Given the description of an element on the screen output the (x, y) to click on. 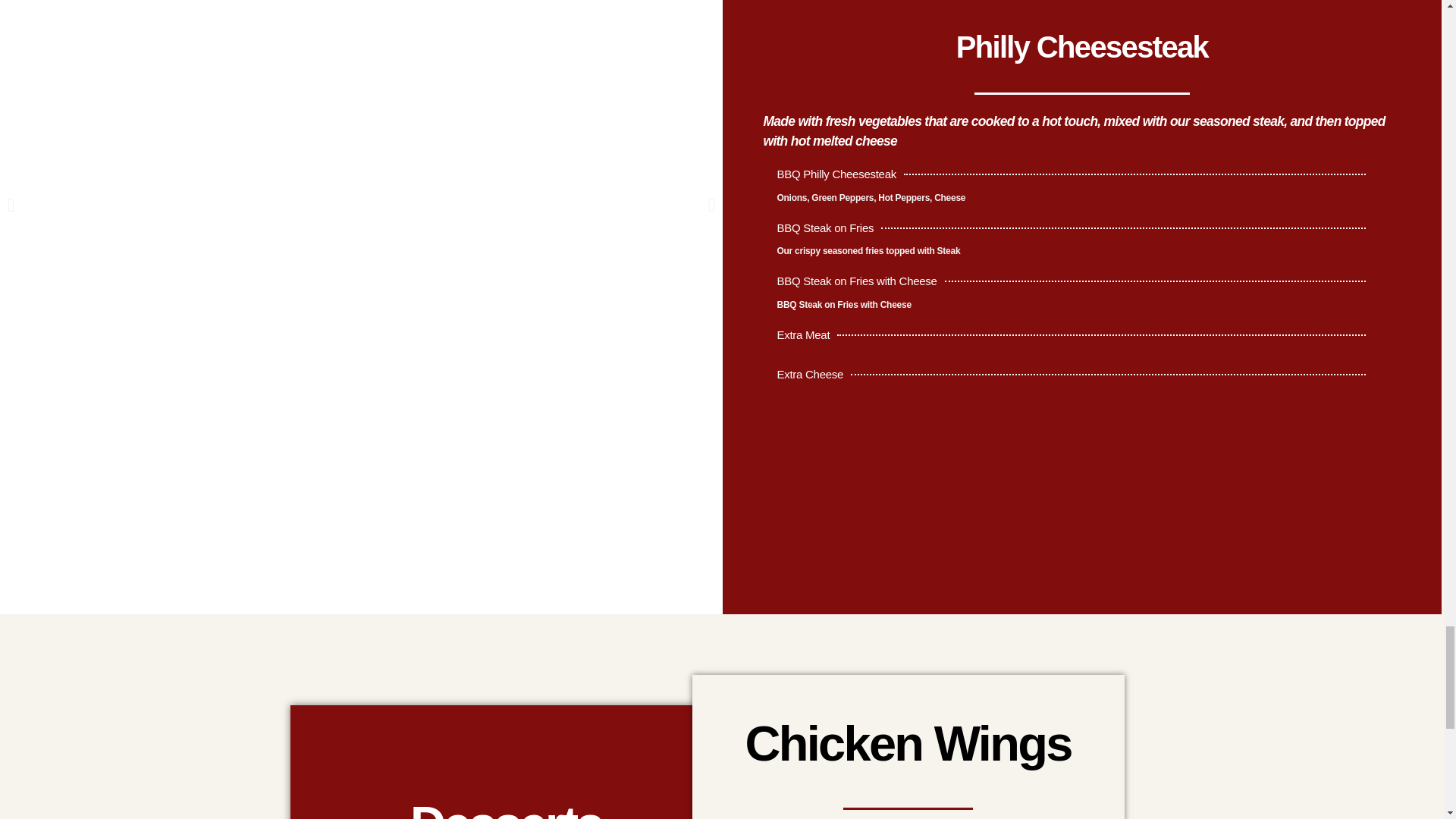
Extra Cheese (1074, 378)
Extra Meat (1074, 339)
